Given the description of an element on the screen output the (x, y) to click on. 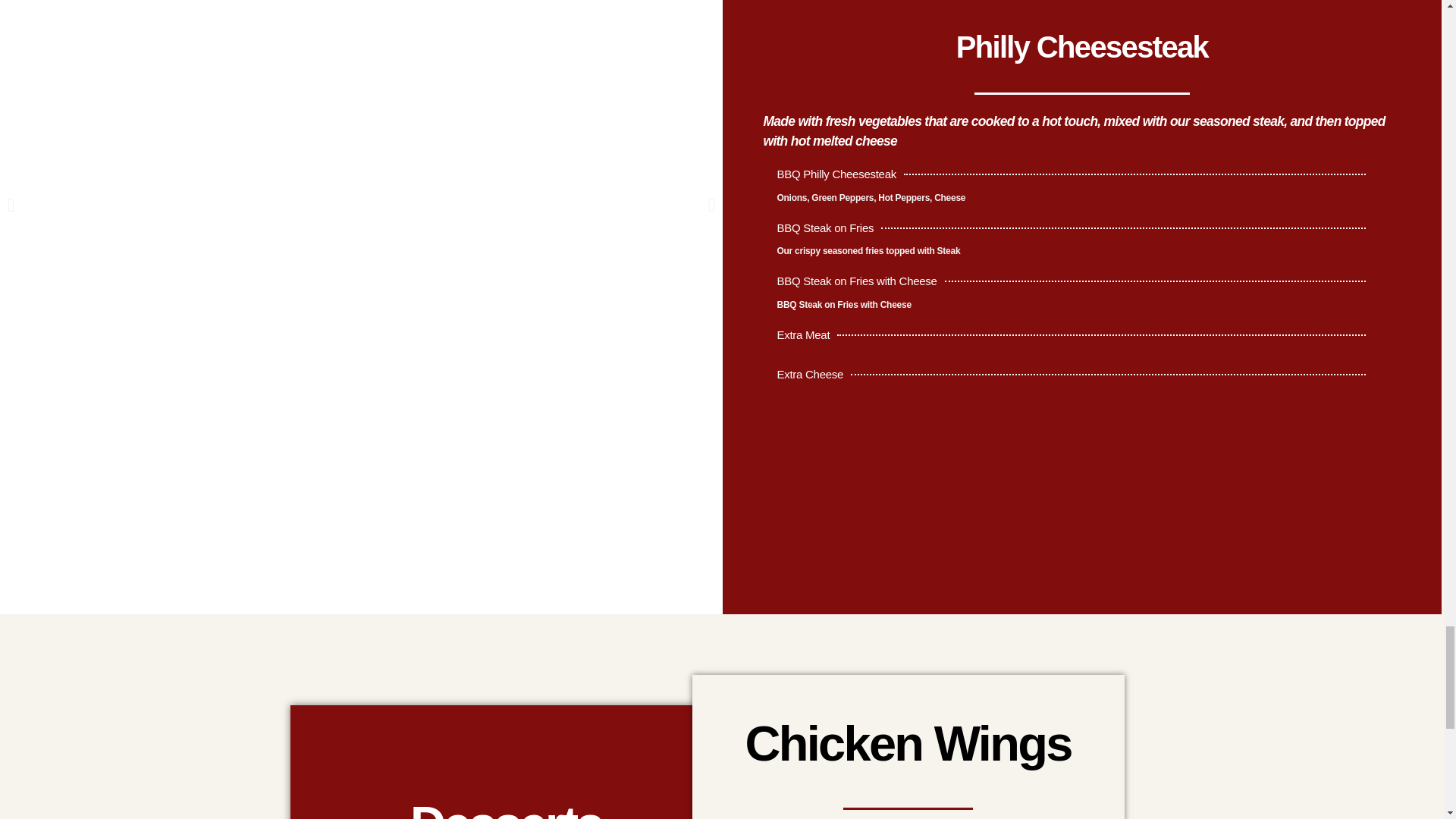
Extra Cheese (1074, 378)
Extra Meat (1074, 339)
